Given the description of an element on the screen output the (x, y) to click on. 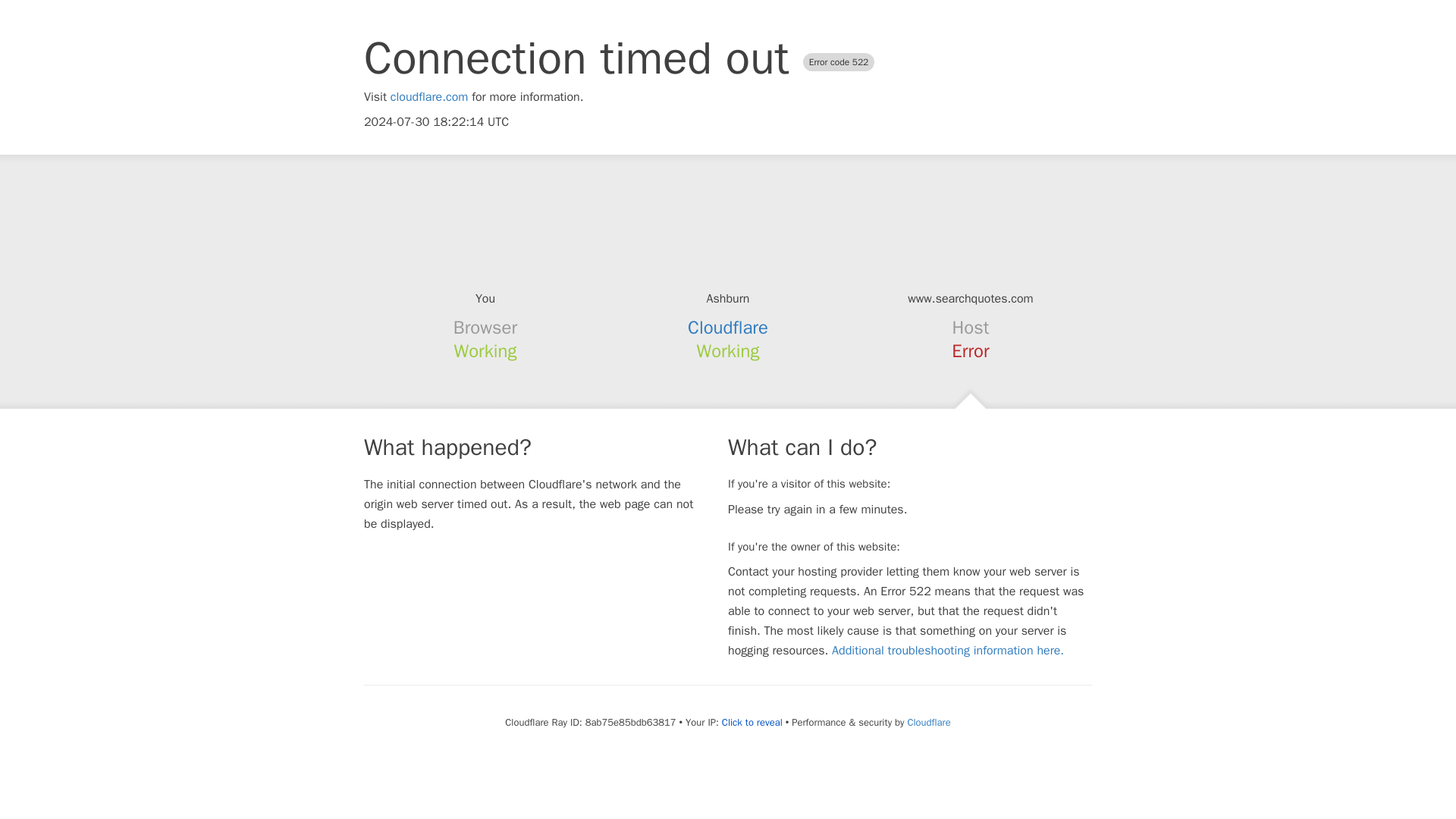
cloudflare.com (429, 96)
Click to reveal (752, 722)
Cloudflare (727, 327)
Cloudflare (928, 721)
Additional troubleshooting information here. (947, 650)
